Given the description of an element on the screen output the (x, y) to click on. 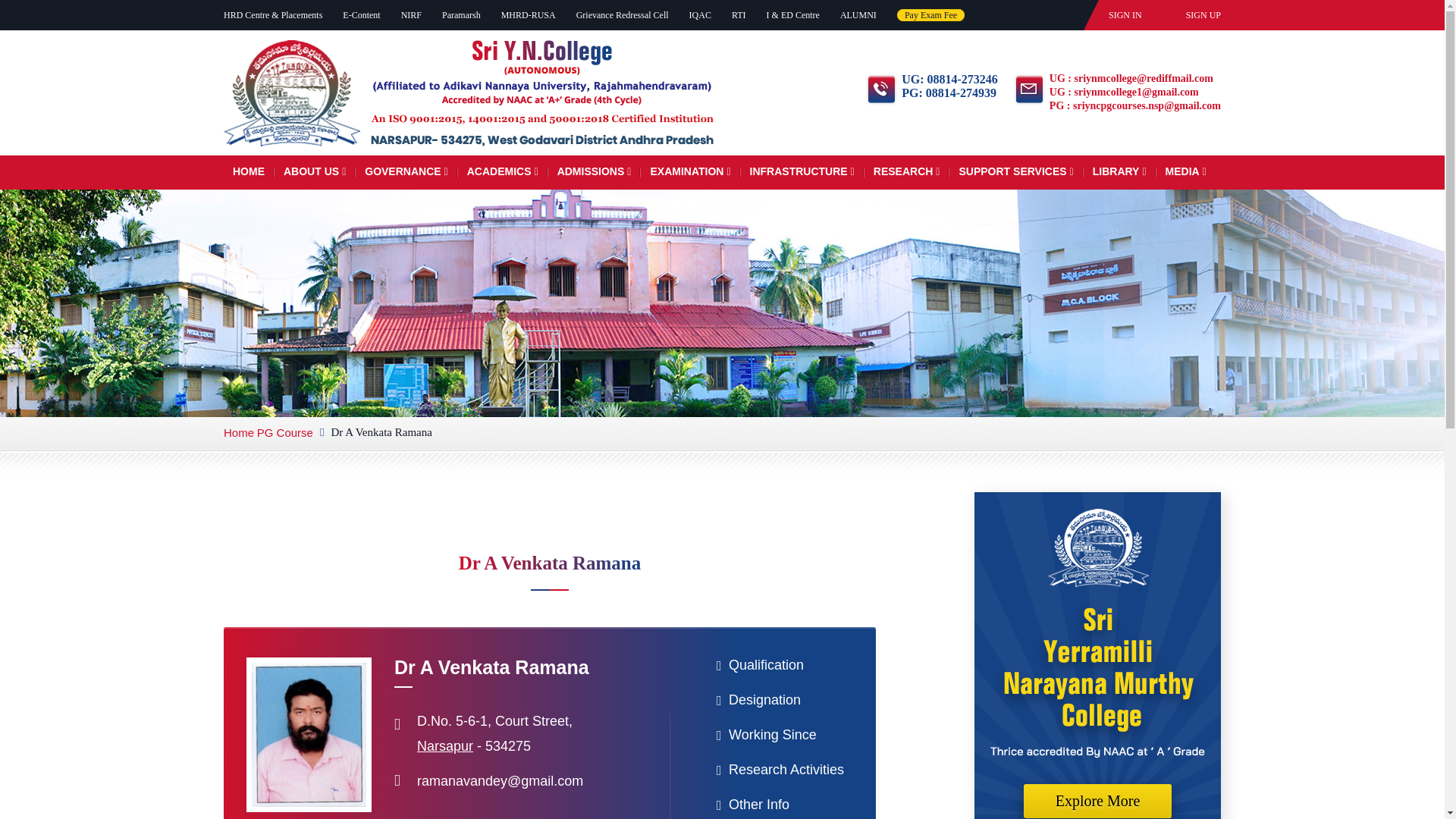
UG: 08814-273246 (949, 79)
Grievance Redressal Cell (622, 14)
ABOUT US (314, 166)
RTI (738, 14)
PAY EXAM FEE (929, 15)
Paramarsh (461, 14)
ALUMNI (858, 14)
About Us (314, 166)
NIRF (411, 14)
PG: 08814-274939 (949, 92)
